Given the description of an element on the screen output the (x, y) to click on. 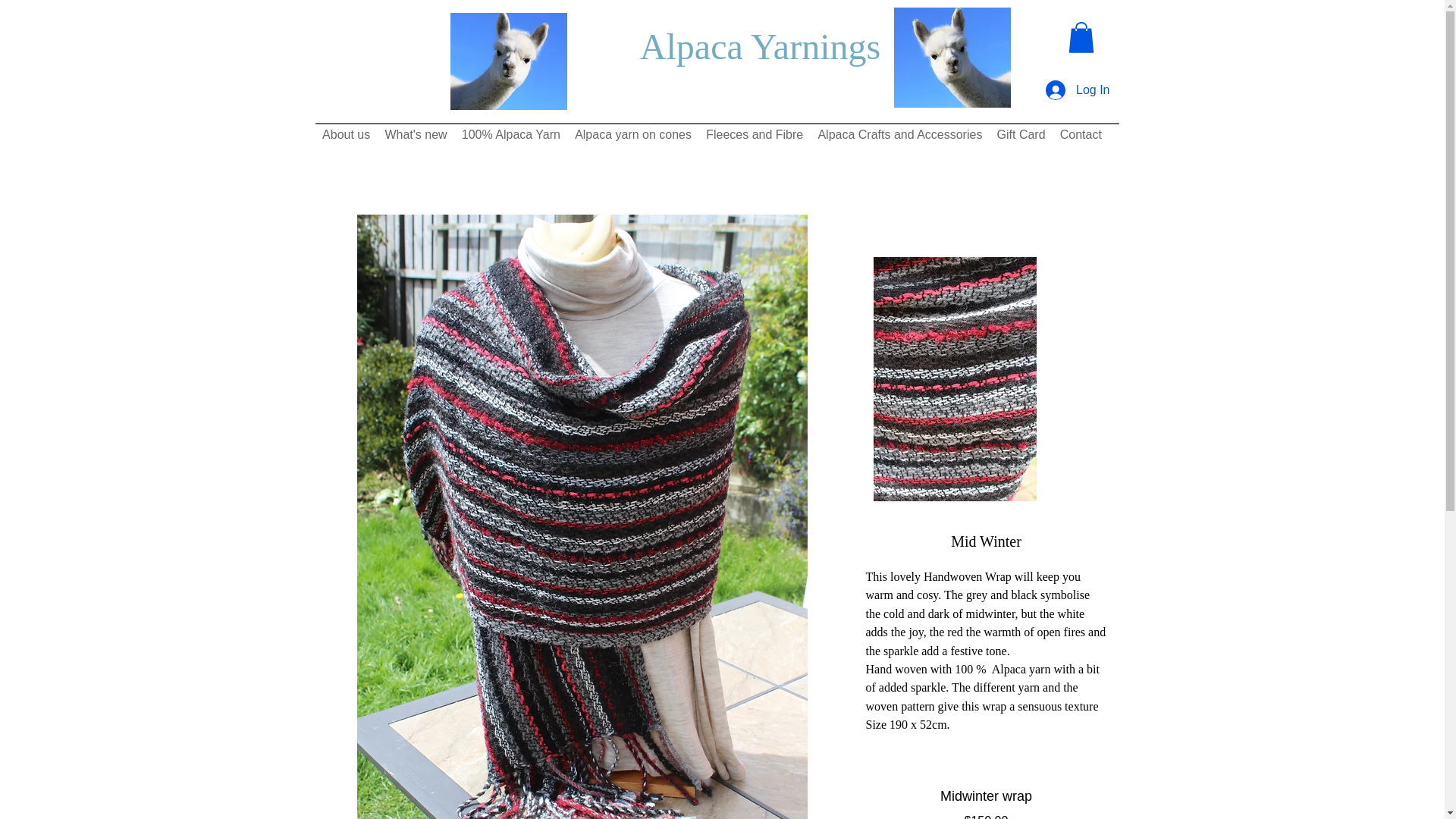
Gift Card (1021, 134)
Log In (1077, 90)
About us (346, 134)
What's new (415, 134)
Fleeces and Fibre (754, 134)
Alpaca yarn on cones (632, 134)
Alpaca Crafts and Accessories (900, 134)
Contact (1080, 134)
